Given the description of an element on the screen output the (x, y) to click on. 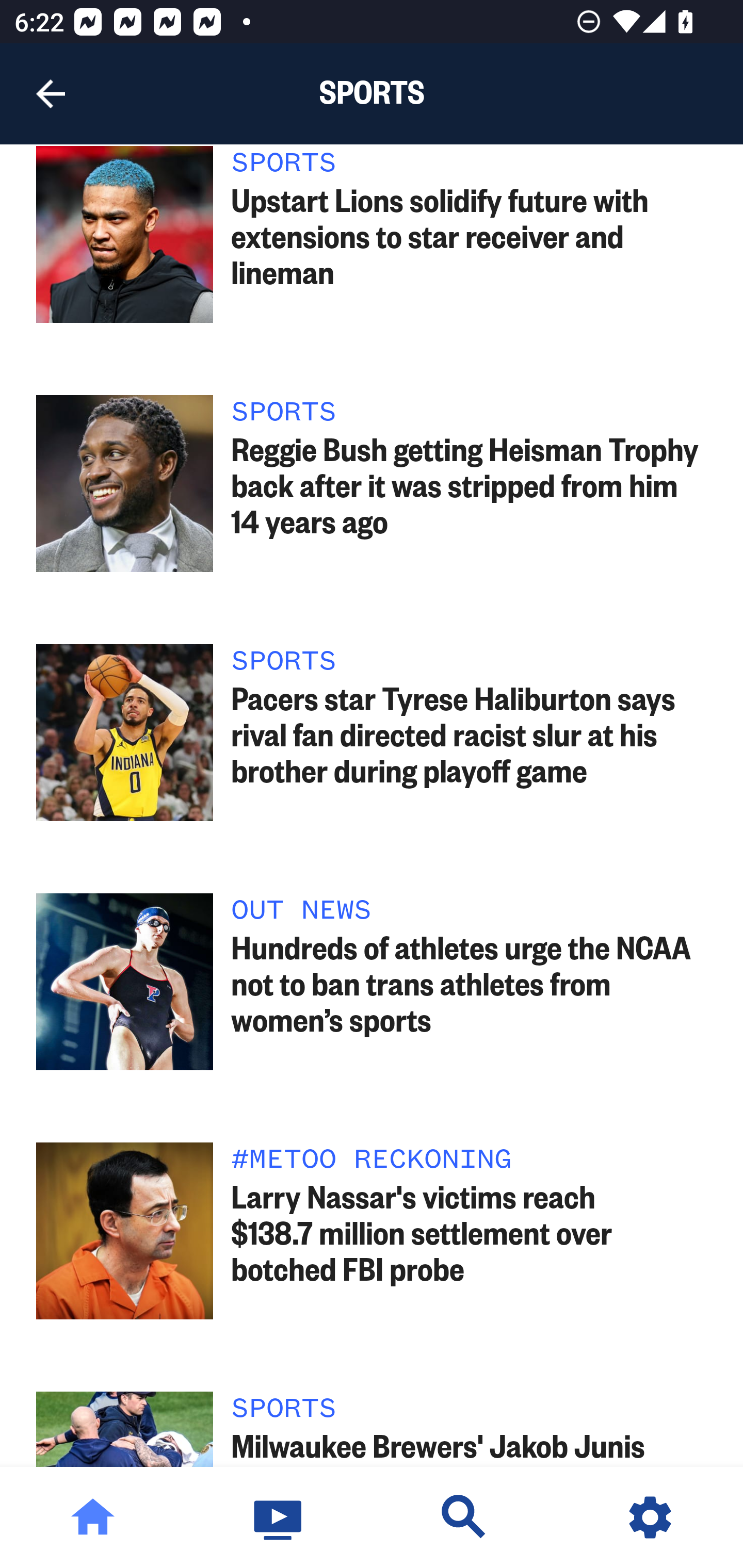
Navigate up (50, 93)
Watch (278, 1517)
Discover (464, 1517)
Settings (650, 1517)
